Given the description of an element on the screen output the (x, y) to click on. 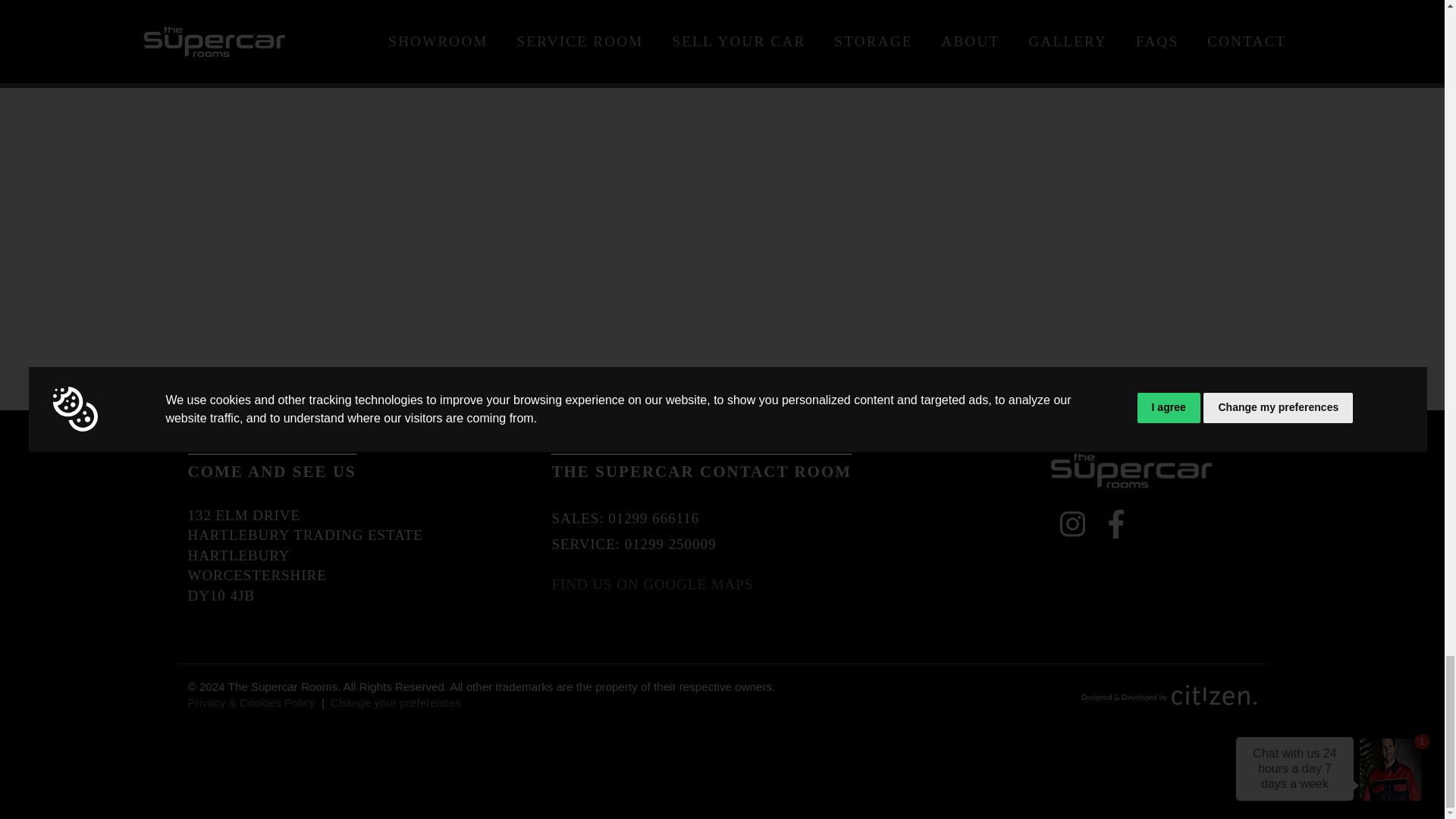
The Supercar Rooms (1131, 470)
